Given the description of an element on the screen output the (x, y) to click on. 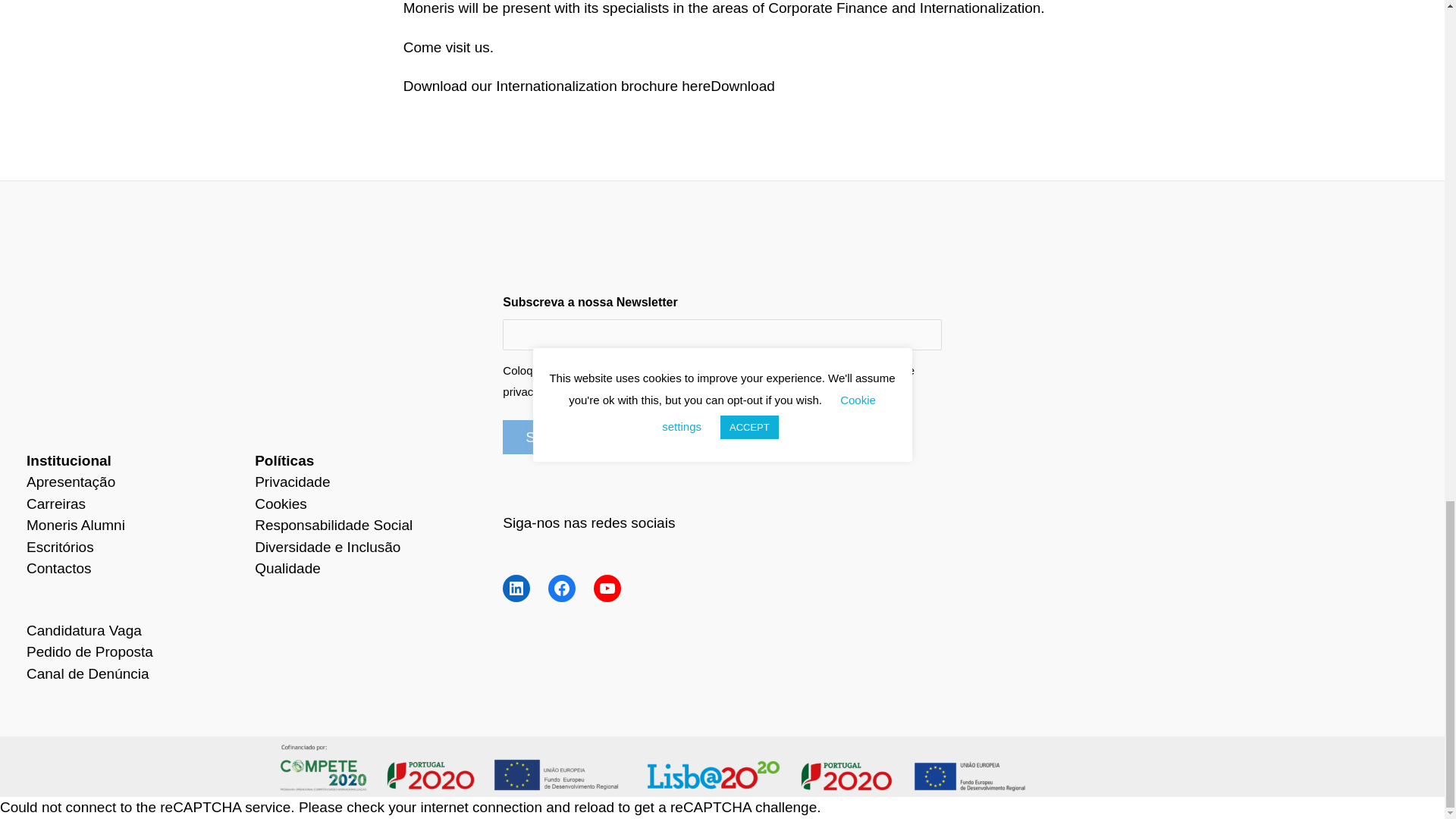
Submeter (556, 437)
